Given the description of an element on the screen output the (x, y) to click on. 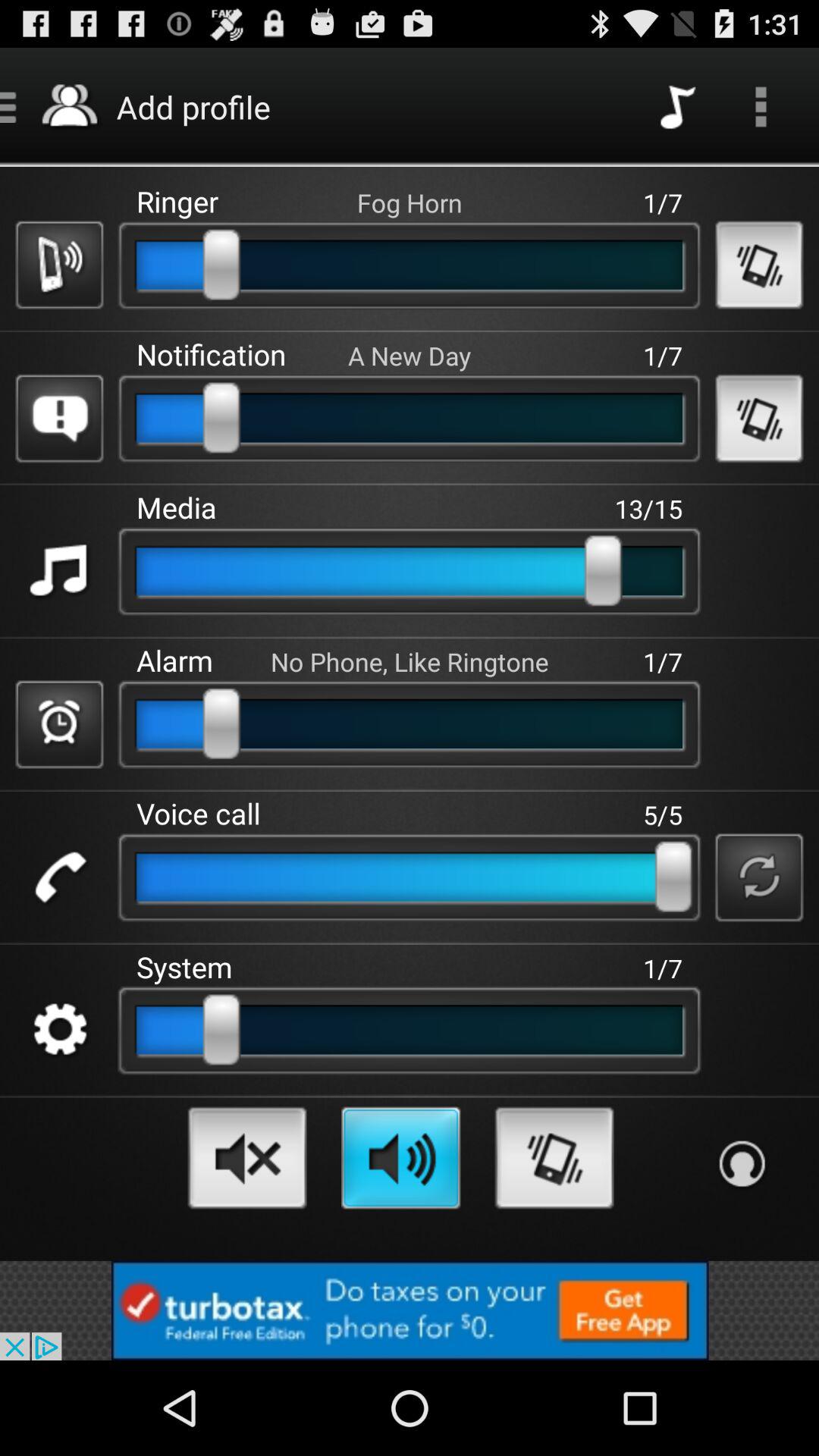
open system menu (59, 1030)
